Given the description of an element on the screen output the (x, y) to click on. 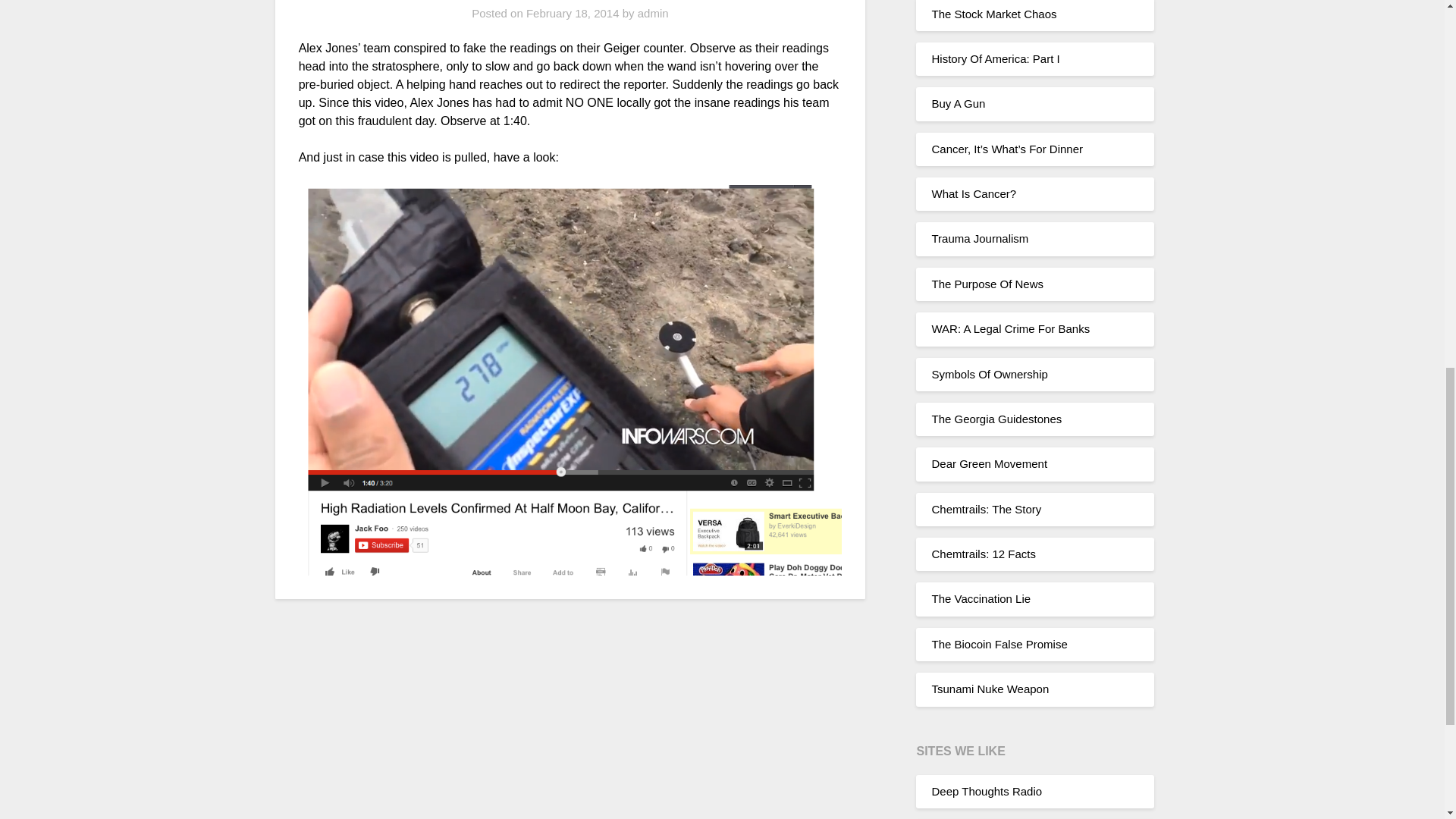
Chemtrails: The Story (986, 508)
What Is Cancer? (973, 193)
The Stock Market Chaos (994, 13)
Chemtrails: 12 Facts (983, 553)
WAR: A Legal Crime For Banks (1010, 328)
History Of America: Part I (995, 58)
The Georgia Guidestones (996, 418)
Trauma Journalism (979, 237)
The Purpose Of News (987, 283)
Buy A Gun (958, 103)
